Given the description of an element on the screen output the (x, y) to click on. 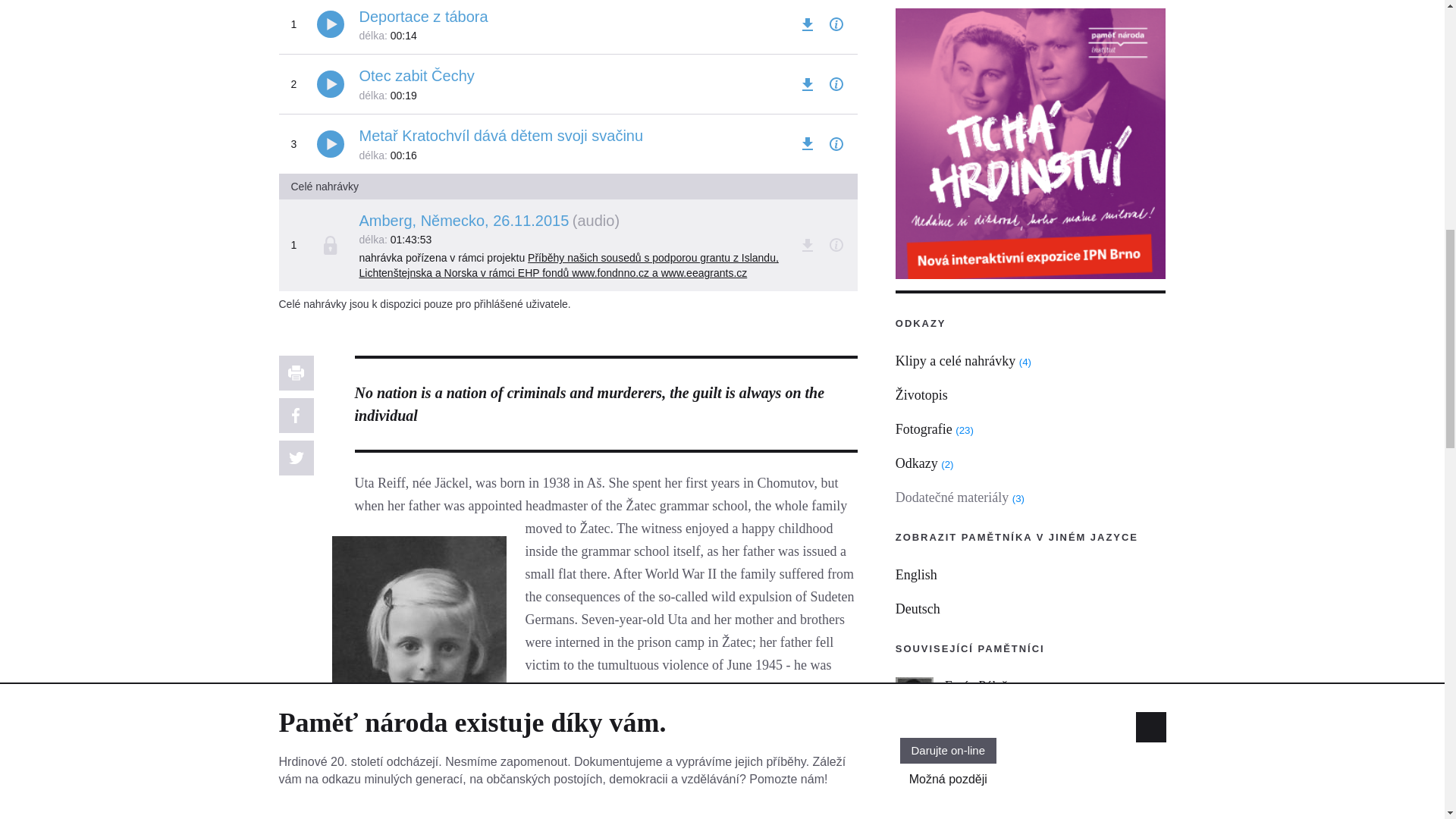
Download file (807, 84)
Download file (807, 143)
Download file (807, 244)
Download file (807, 24)
